Given the description of an element on the screen output the (x, y) to click on. 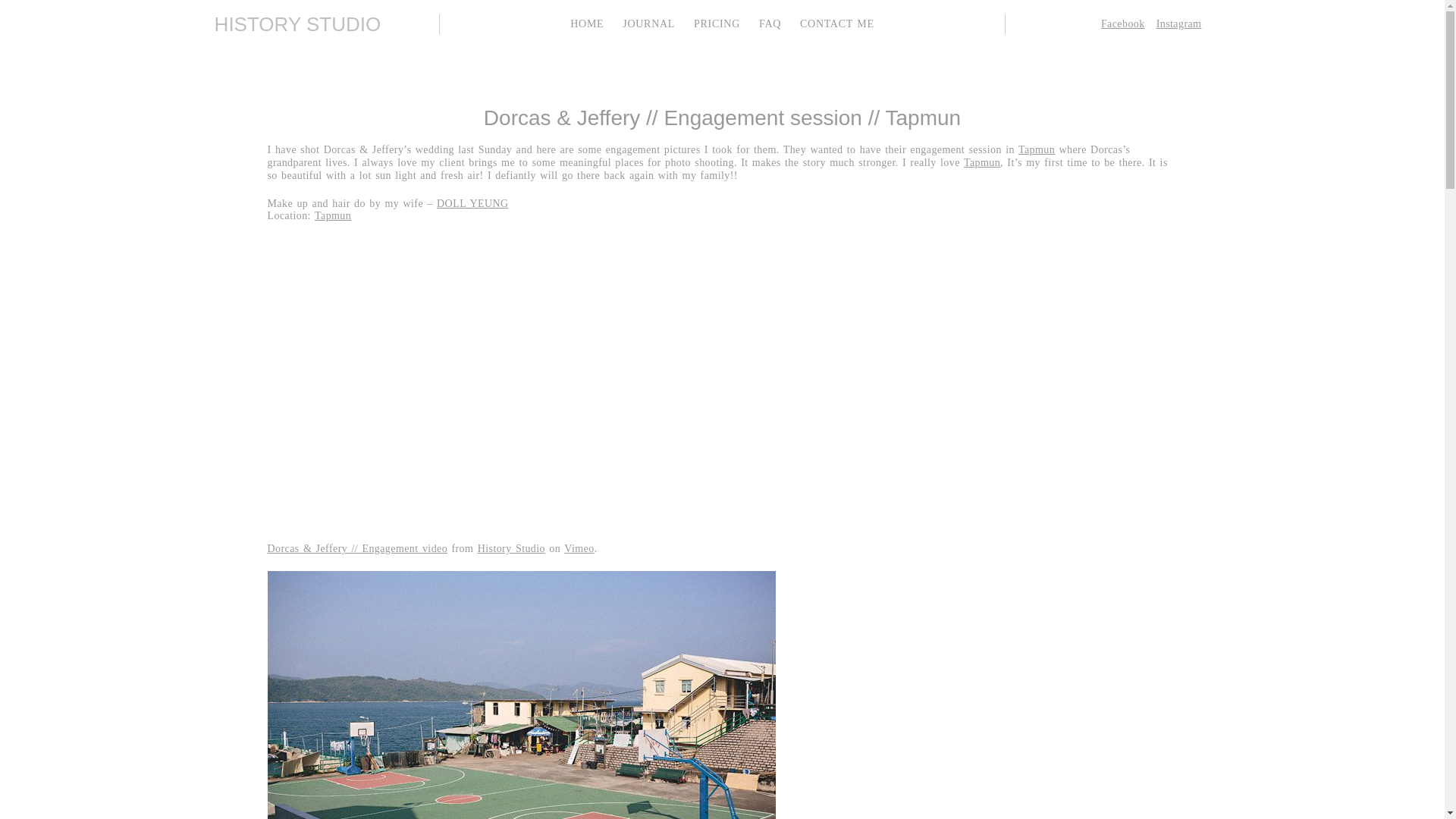
HOME (587, 23)
Instagram (1179, 23)
JOURNAL (649, 23)
Facebook (1122, 23)
FAQ (769, 23)
History Studio (510, 548)
PRICING (716, 23)
CONTACT ME (837, 23)
Vimeo (579, 548)
Tapmun (1035, 149)
DOLL YEUNG (472, 203)
Tapmun (981, 162)
Tapmun (332, 215)
